Given the description of an element on the screen output the (x, y) to click on. 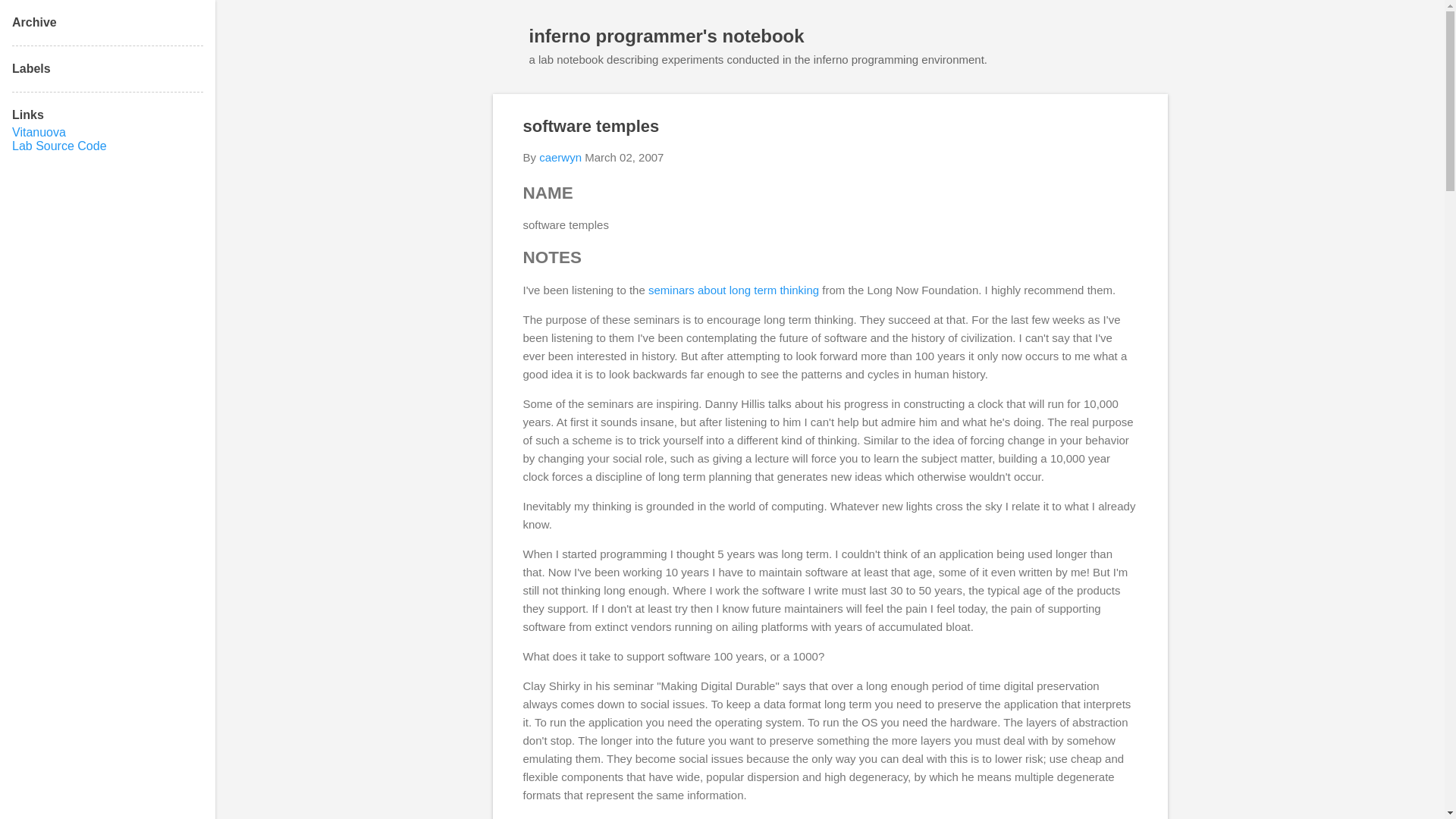
March 02, 2007 (624, 156)
caerwyn (559, 156)
author profile (559, 156)
seminars about long term thinking (732, 289)
permanent link (624, 156)
inferno programmer's notebook (667, 35)
Search (29, 18)
